Given the description of an element on the screen output the (x, y) to click on. 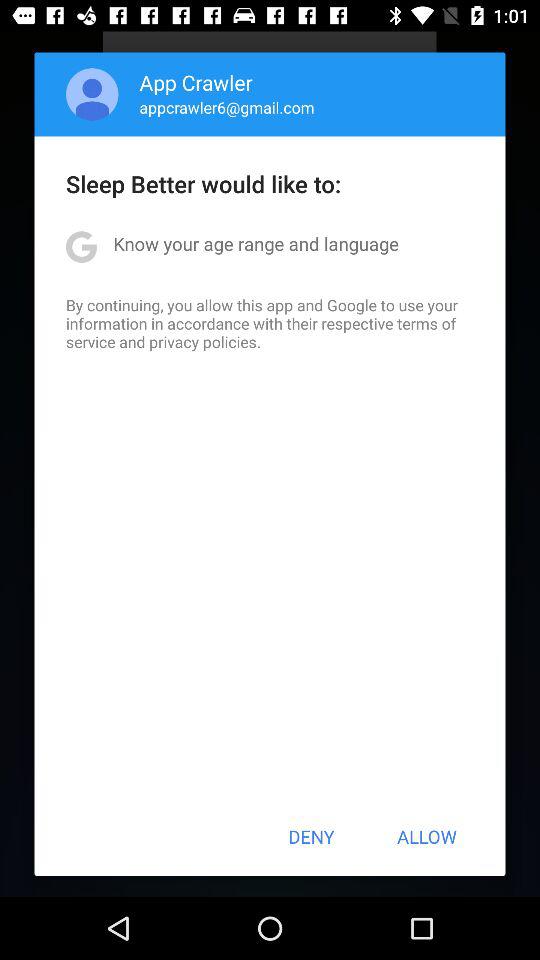
tap know your age app (255, 243)
